Given the description of an element on the screen output the (x, y) to click on. 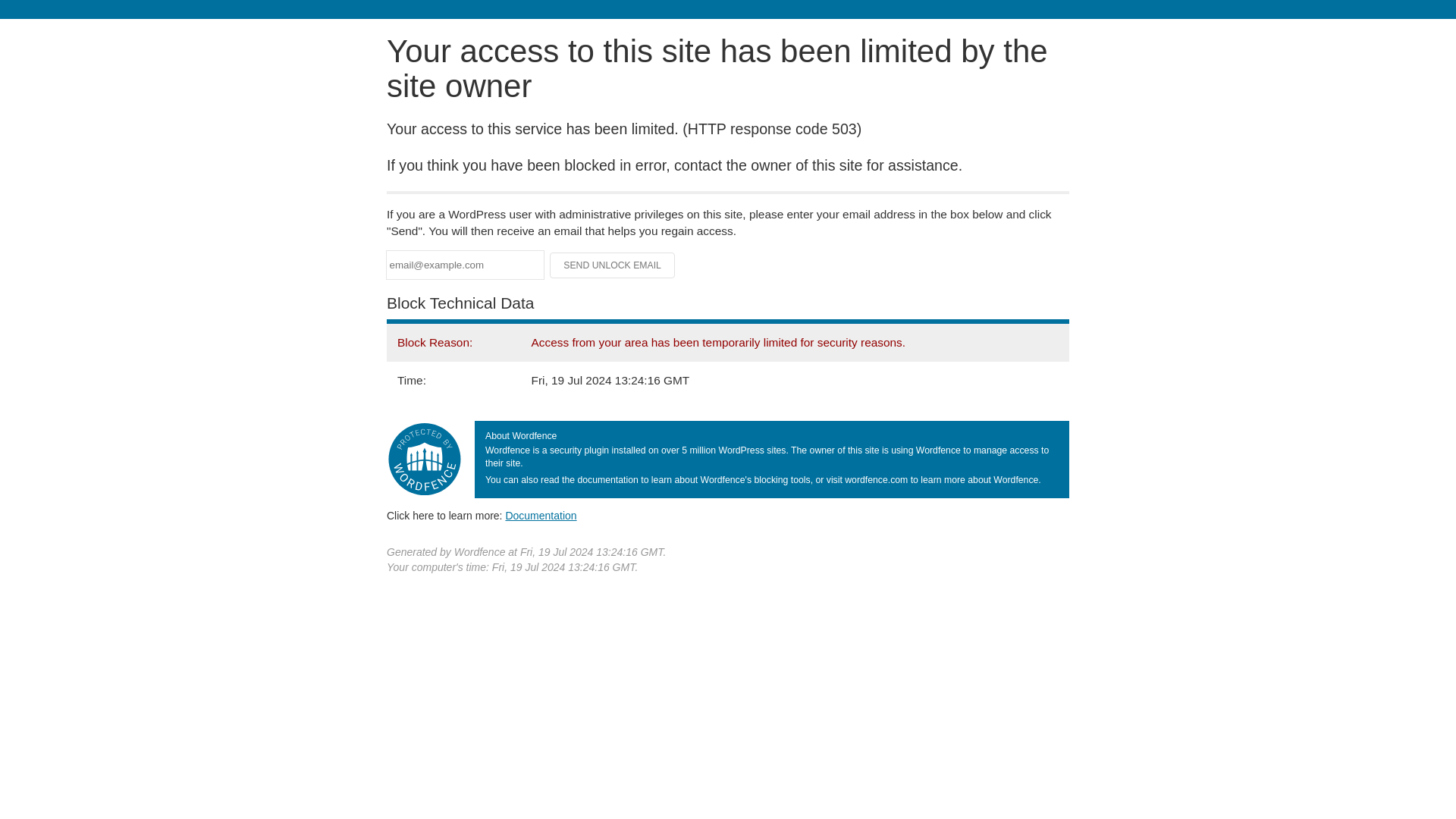
Documentation (540, 515)
Send Unlock Email (612, 265)
Send Unlock Email (612, 265)
